Given the description of an element on the screen output the (x, y) to click on. 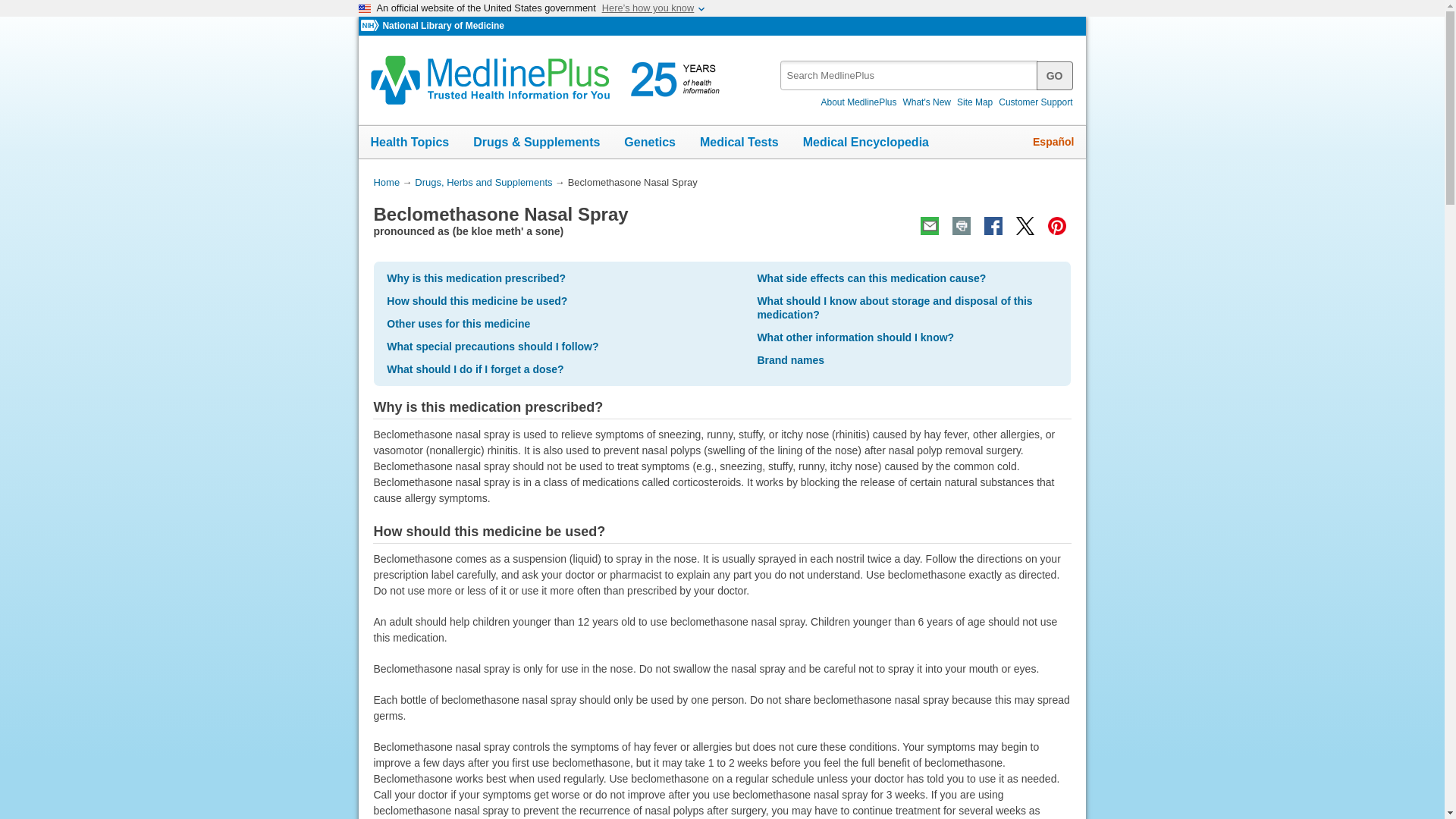
Customer Support (1035, 102)
National Institutes of Health (371, 26)
Genetics (649, 142)
Why is this medication prescribed? (476, 277)
What special precautions should I follow? (492, 346)
Home (385, 182)
Site Map (974, 102)
About MedlinePlus (858, 102)
Medical Encyclopedia (865, 142)
Print (961, 225)
Facebook (992, 225)
What should I do if I forget a dose? (475, 369)
Pinterest (1056, 225)
MedlinePlus Trusted Health Information for You (550, 79)
